Given the description of an element on the screen output the (x, y) to click on. 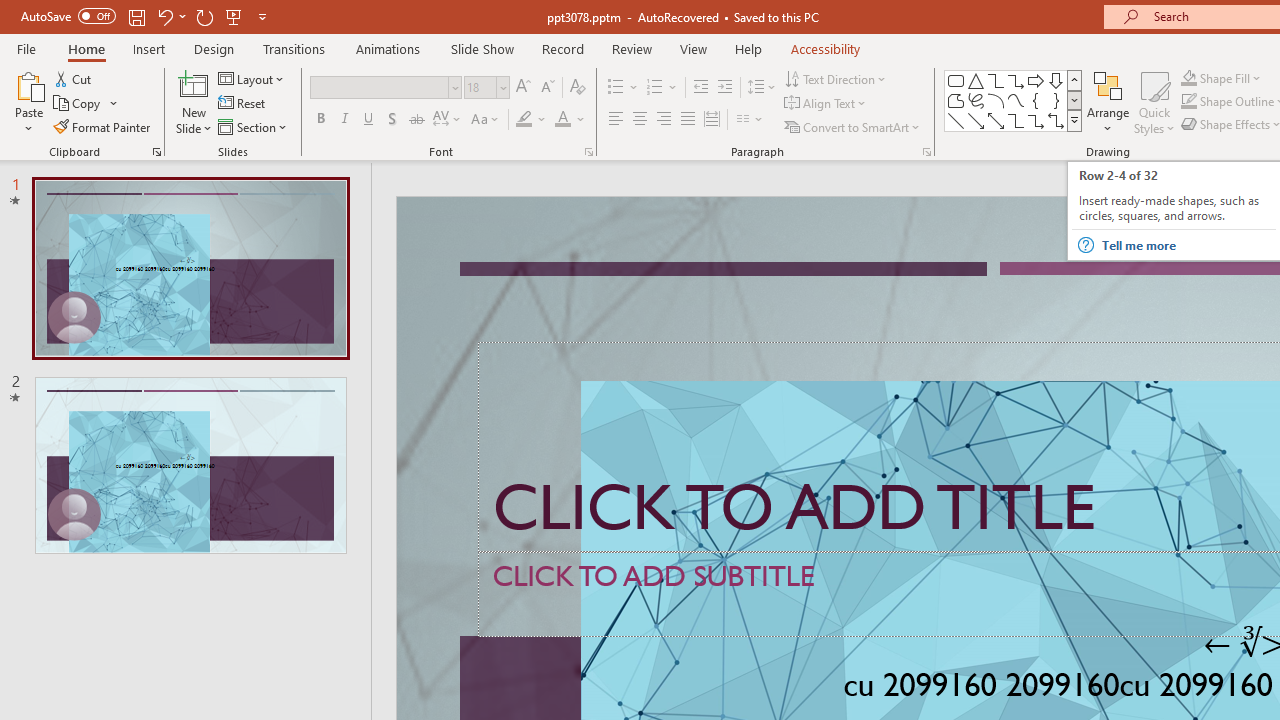
Decrease Font Size (547, 87)
Line Arrow: Double (995, 120)
AutomationID: ShapesInsertGallery (1014, 100)
Section (254, 126)
Quick Styles (1154, 102)
Office Clipboard... (156, 151)
Shadow (392, 119)
Shape Fill Dark Green, Accent 2 (1188, 78)
